Given the description of an element on the screen output the (x, y) to click on. 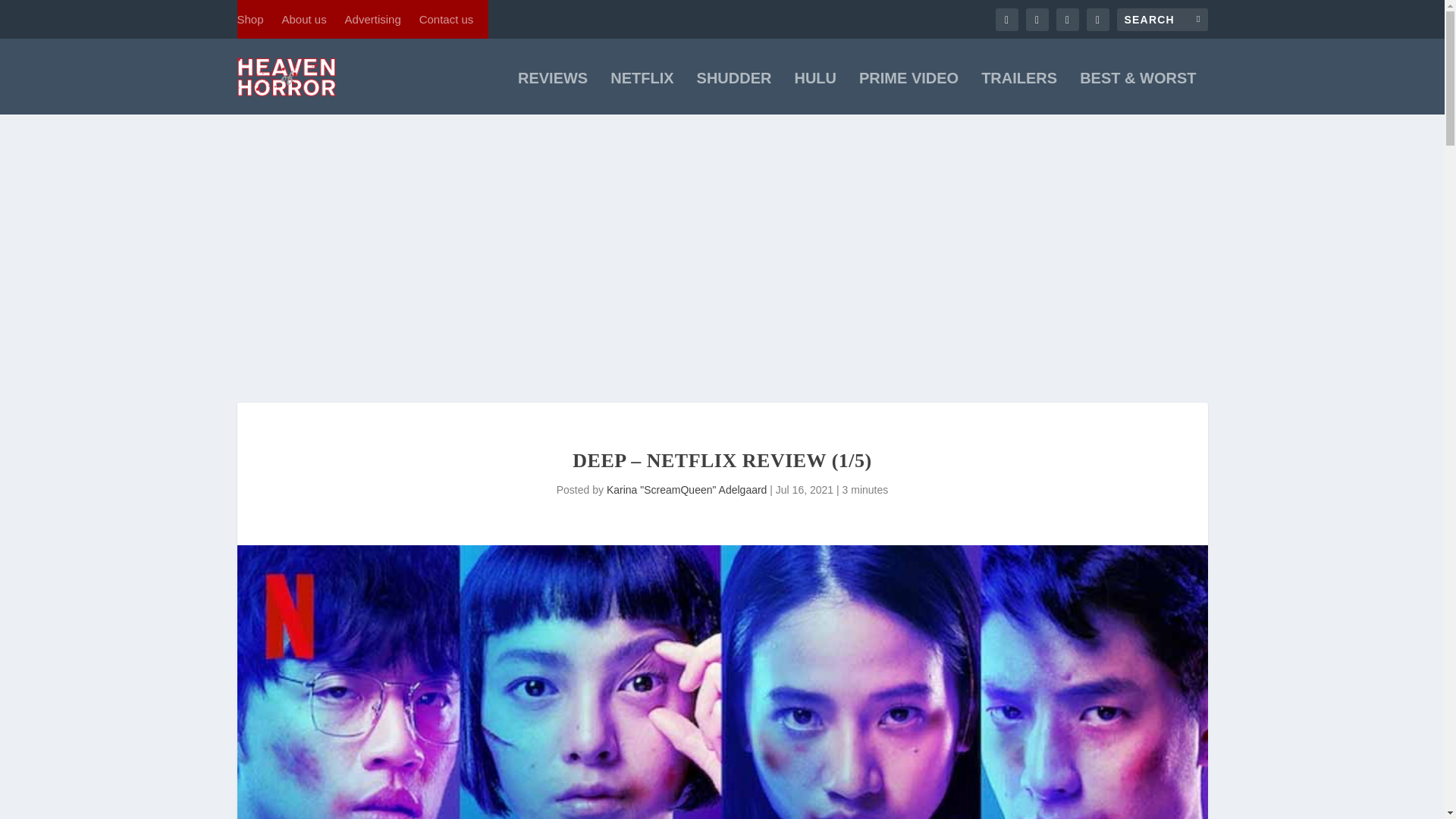
Advertising (373, 19)
Contact us (446, 19)
About us (303, 19)
TRAILERS (1019, 93)
REVIEWS (553, 93)
HULU (814, 93)
Karina "ScreamQueen" Adelgaard (687, 490)
PRIME VIDEO (908, 93)
Search for: (1161, 18)
Posts by Karina "ScreamQueen" Adelgaard (687, 490)
SHUDDER (734, 93)
NETFLIX (641, 93)
